Given the description of an element on the screen output the (x, y) to click on. 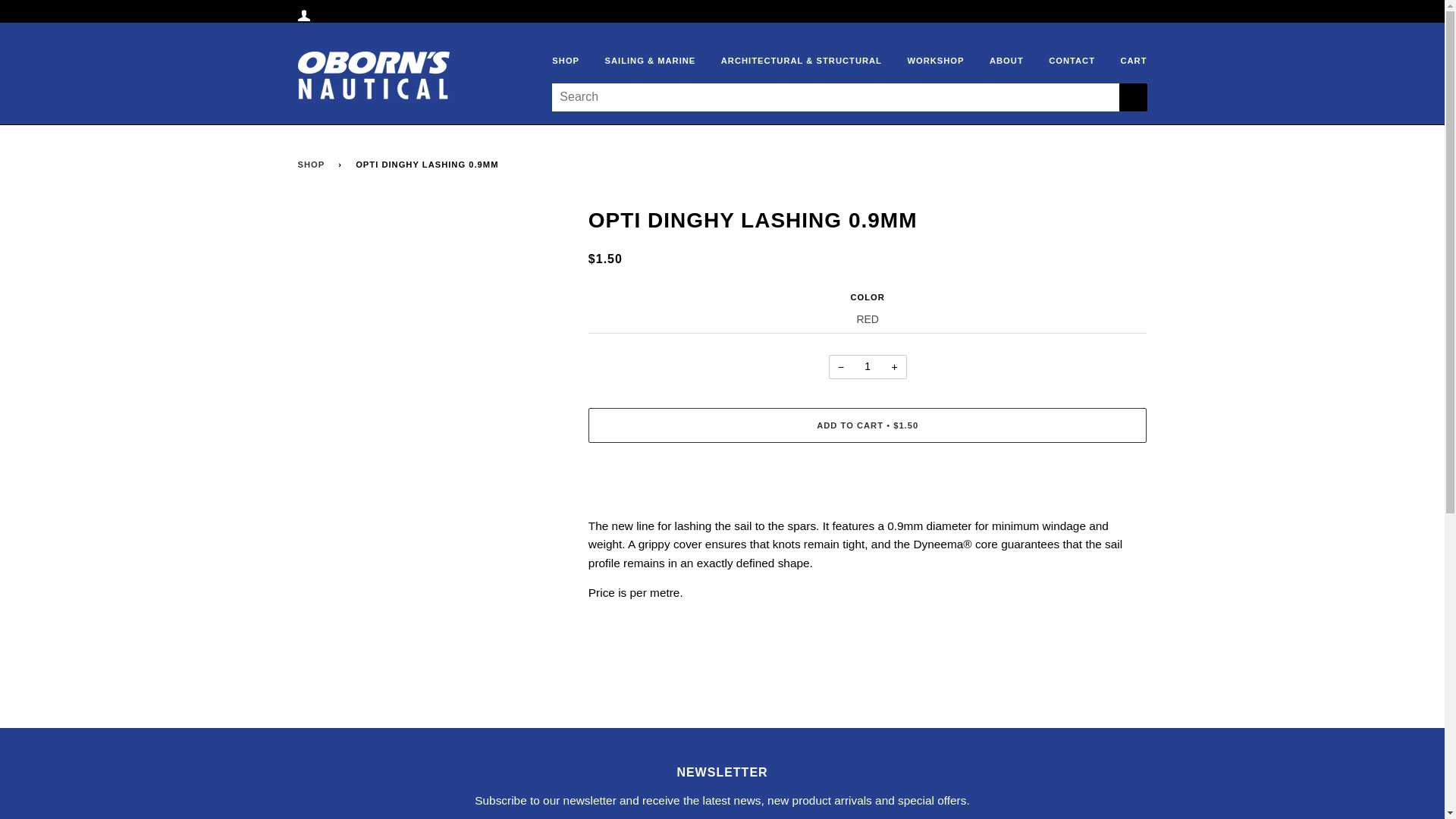
Shop (313, 165)
CART (1122, 61)
1 (867, 366)
WORKSHOP (923, 61)
CONTACT (1060, 61)
ABOUT (994, 61)
